Given the description of an element on the screen output the (x, y) to click on. 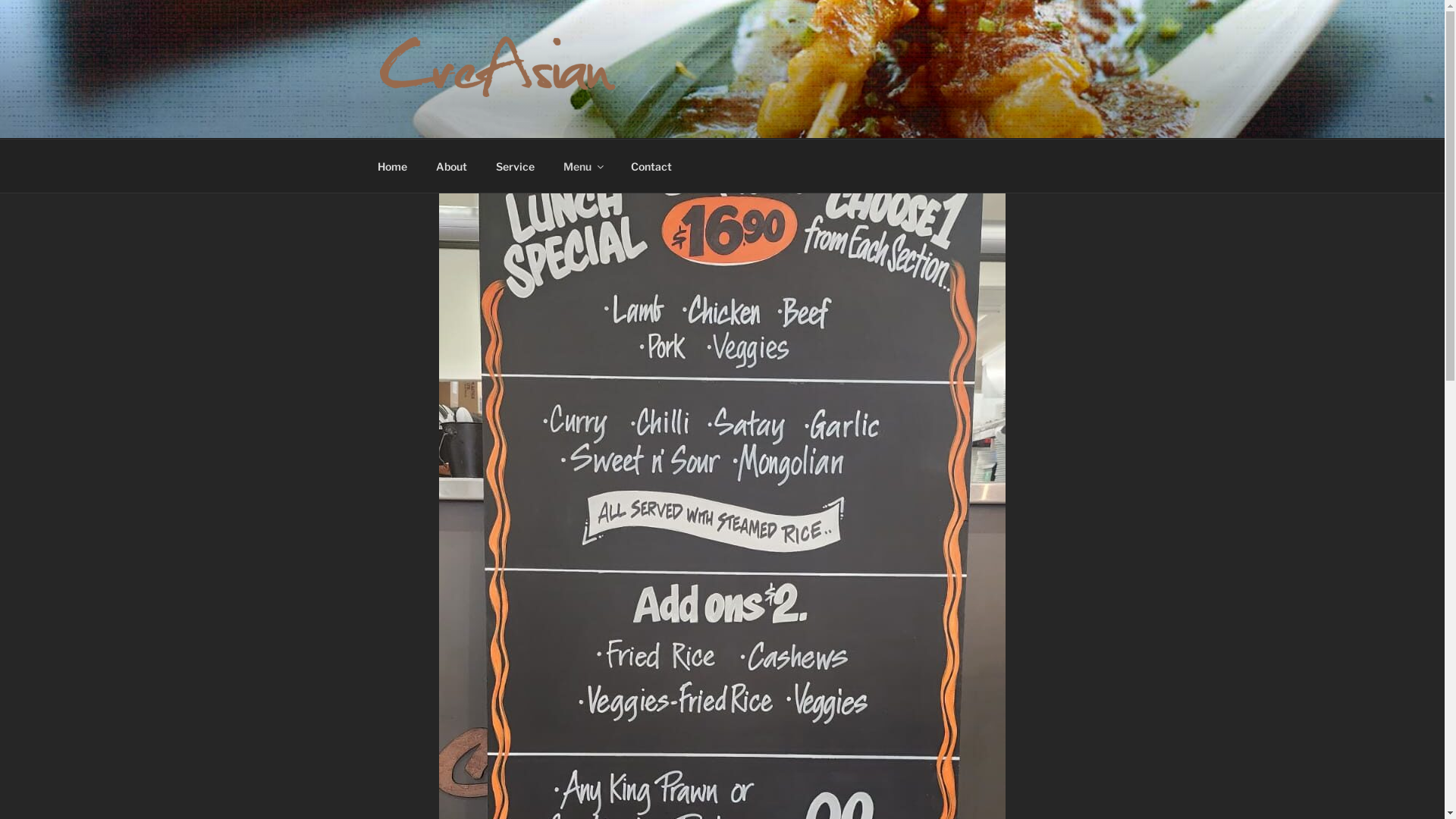
Service Element type: text (514, 165)
Home Element type: text (392, 165)
Contact Element type: text (650, 165)
About Element type: text (451, 165)
CREASIAN Element type: text (461, 118)
Menu Element type: text (582, 165)
